Given the description of an element on the screen output the (x, y) to click on. 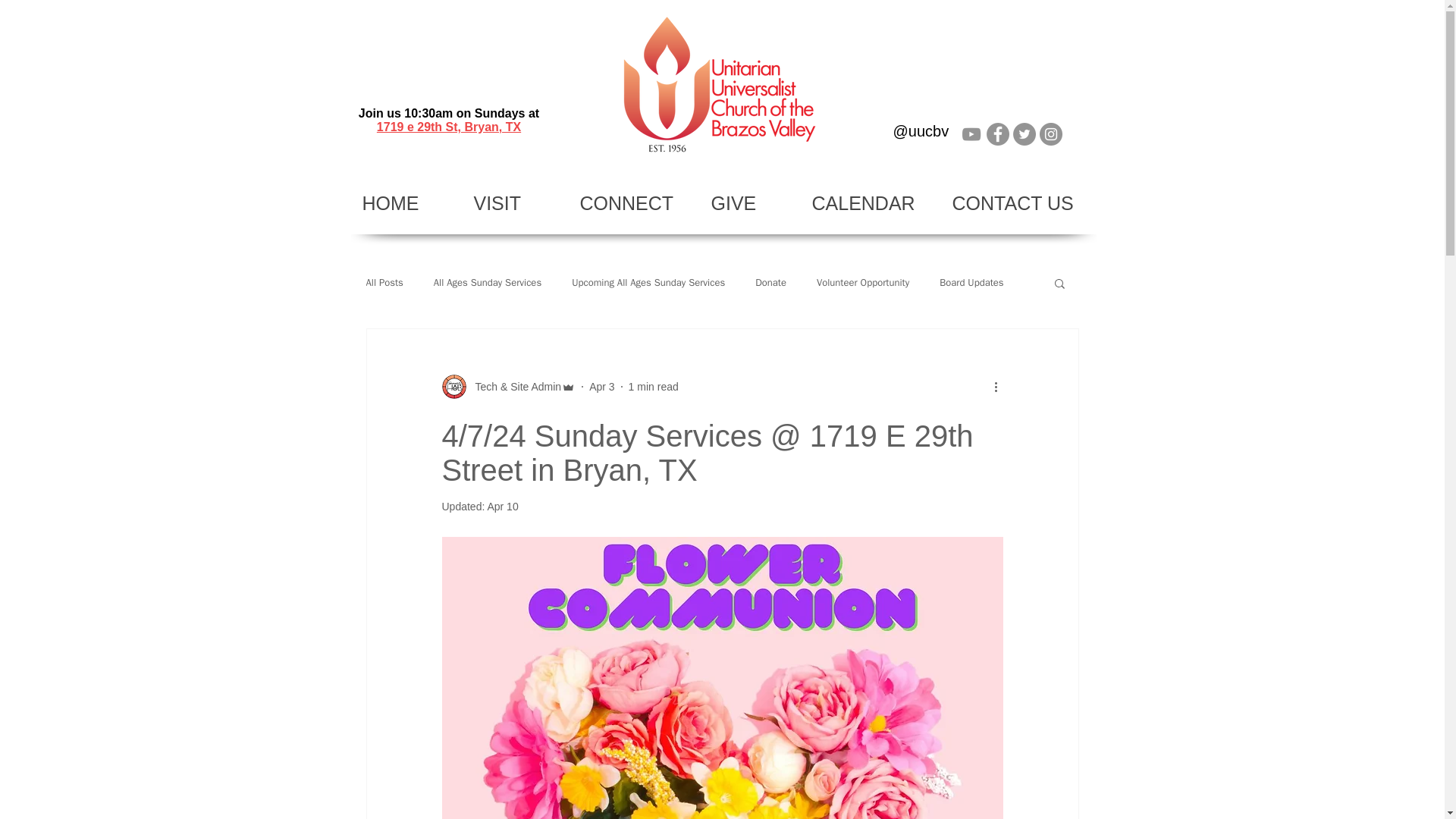
Volunteer Opportunity (862, 282)
All Ages Sunday Services (487, 282)
CONNECT (634, 203)
VISIT (516, 203)
Board Updates (971, 282)
1 min read (653, 386)
1719 e 29th St, Bryan, TX (449, 126)
Apr 10 (502, 506)
CALENDAR (870, 203)
Donate (770, 282)
